Given the description of an element on the screen output the (x, y) to click on. 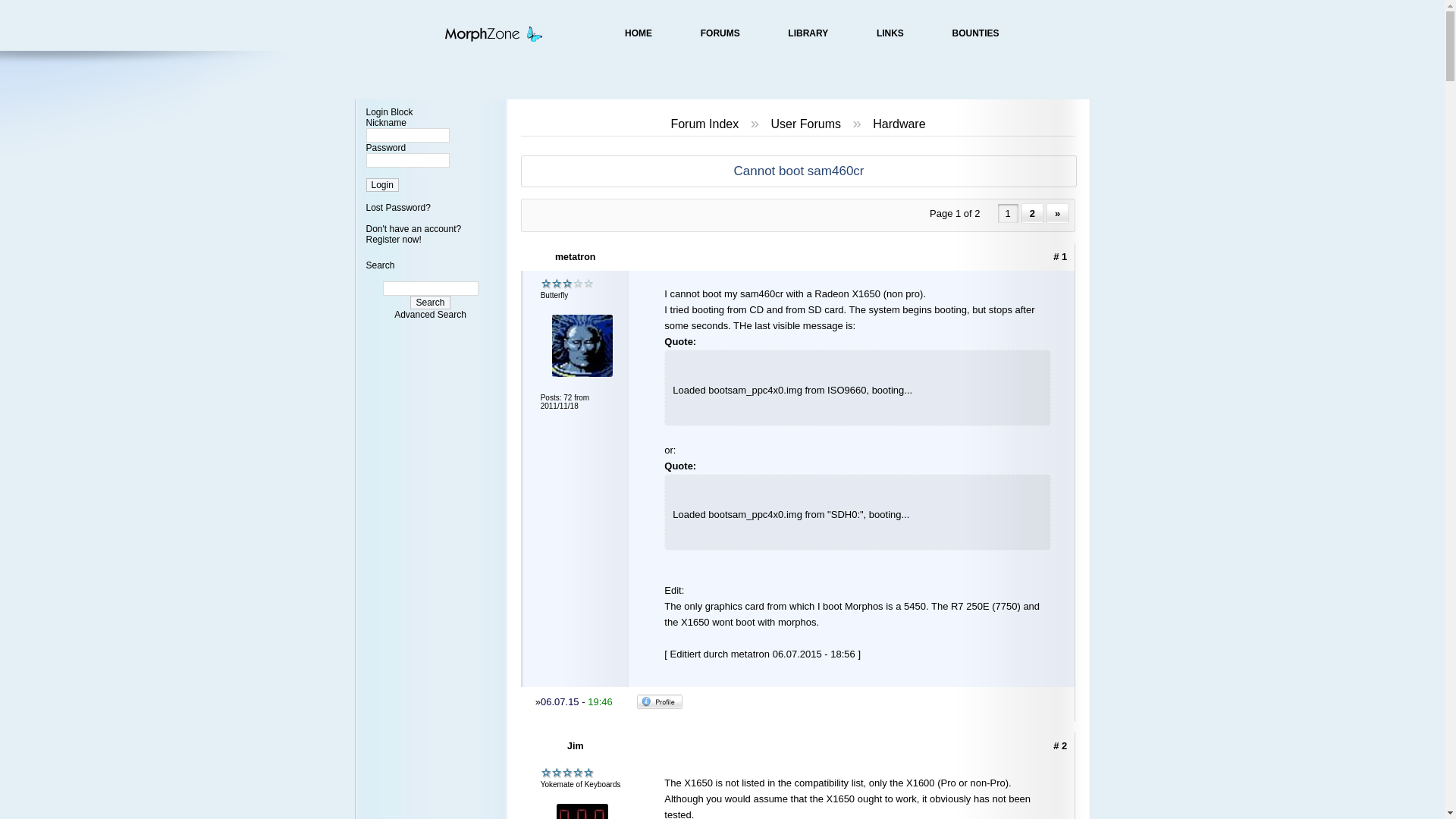
LIBRARY (807, 32)
2 (1032, 213)
HOME (638, 32)
Forum Index (703, 123)
FORUMS (719, 32)
Show alone this post... (1059, 256)
Login (381, 184)
Lost Password? (397, 207)
Yokemate of Keyboards (567, 772)
Search (429, 302)
Butterfly (567, 283)
BOUNTIES (975, 32)
Hardware (898, 123)
LINKS (890, 32)
Jim (575, 746)
